Given the description of an element on the screen output the (x, y) to click on. 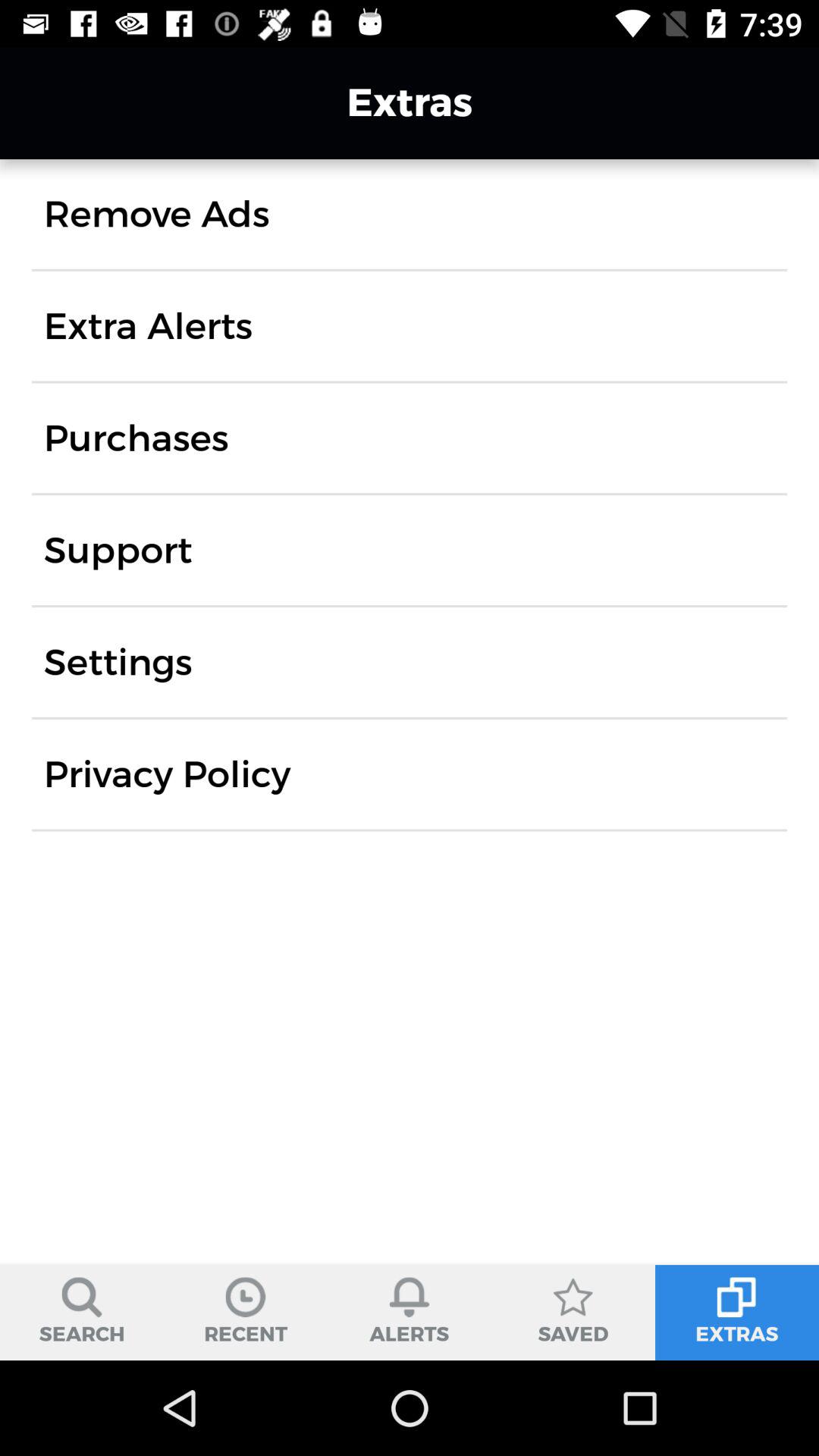
choose the support (117, 550)
